Given the description of an element on the screen output the (x, y) to click on. 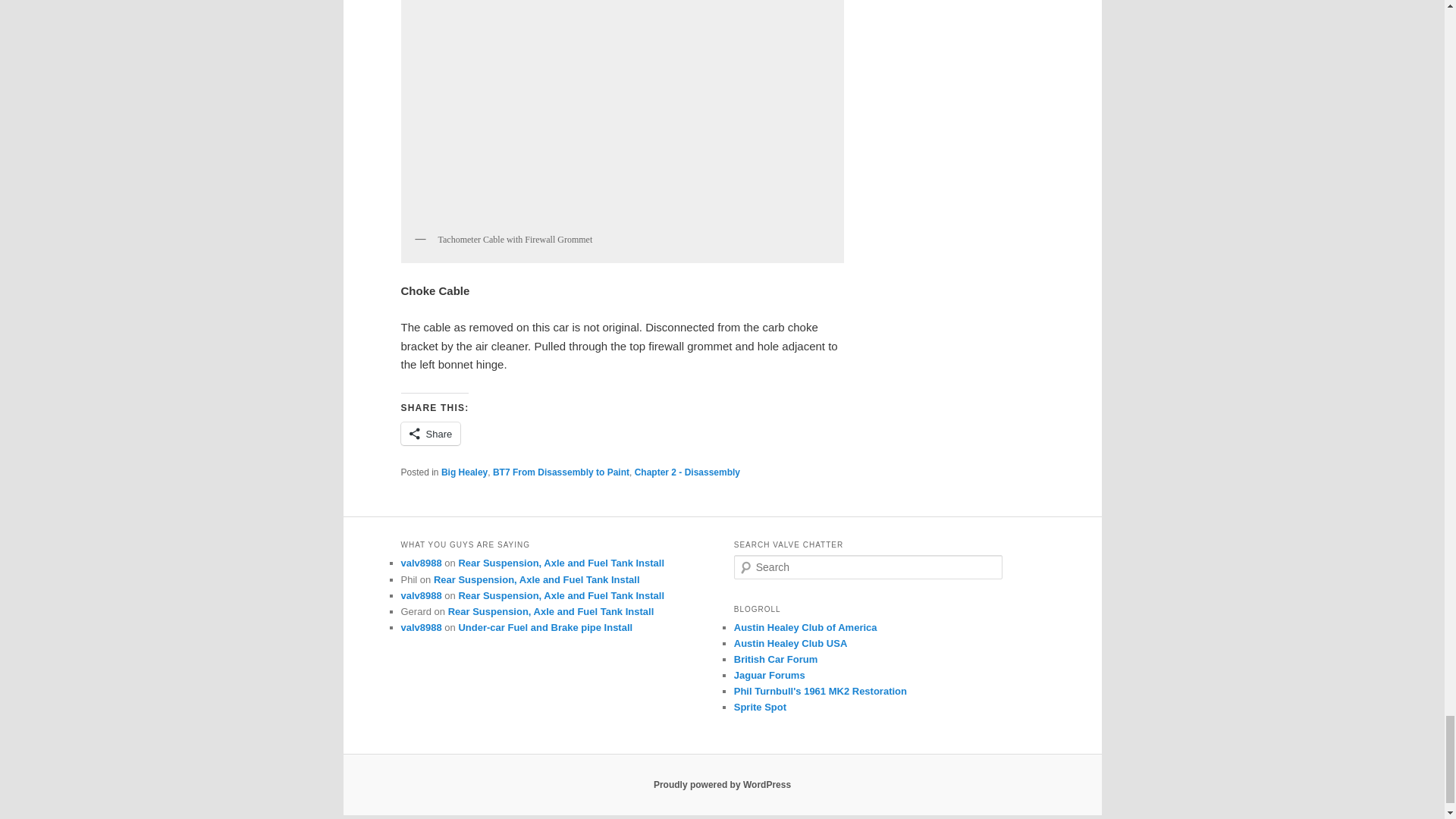
A Forum for all British Marques (775, 659)
The Austin Healey Club USA  (790, 643)
 Welcome to the Austin-Healey Club of America  (805, 627)
